Given the description of an element on the screen output the (x, y) to click on. 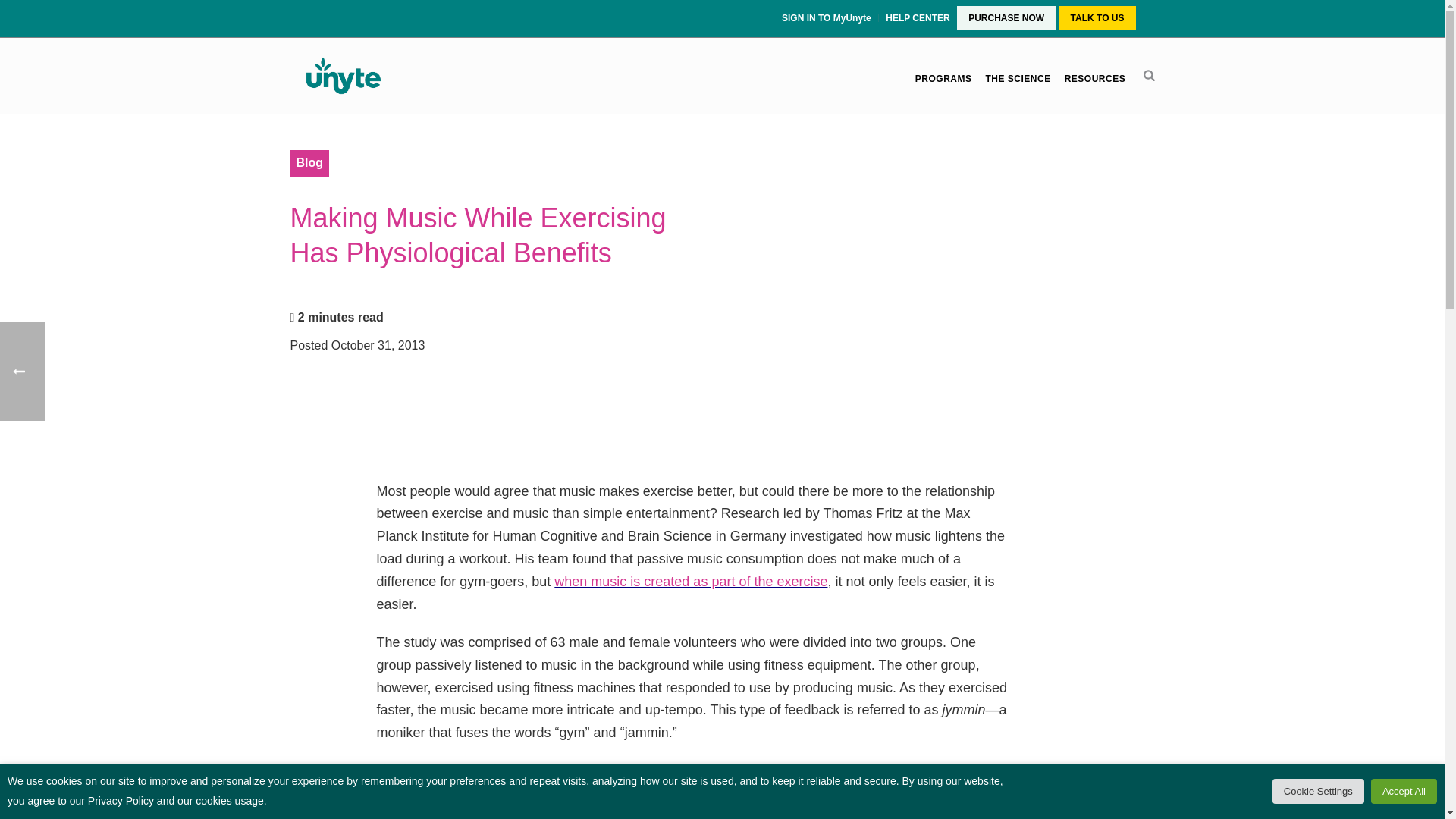
SIGN IN TO MyUnyte (828, 18)
HELP CENTER (917, 18)
Multi-sensory Listening Therapy for Autism, LD, ADHS and SPD (342, 75)
RESOURCES (1095, 79)
PURCHASE NOW (1005, 17)
PROGRAMS (943, 79)
THE SCIENCE (1017, 79)
PROGRAMS (943, 79)
TALK TO US (1097, 17)
